Given the description of an element on the screen output the (x, y) to click on. 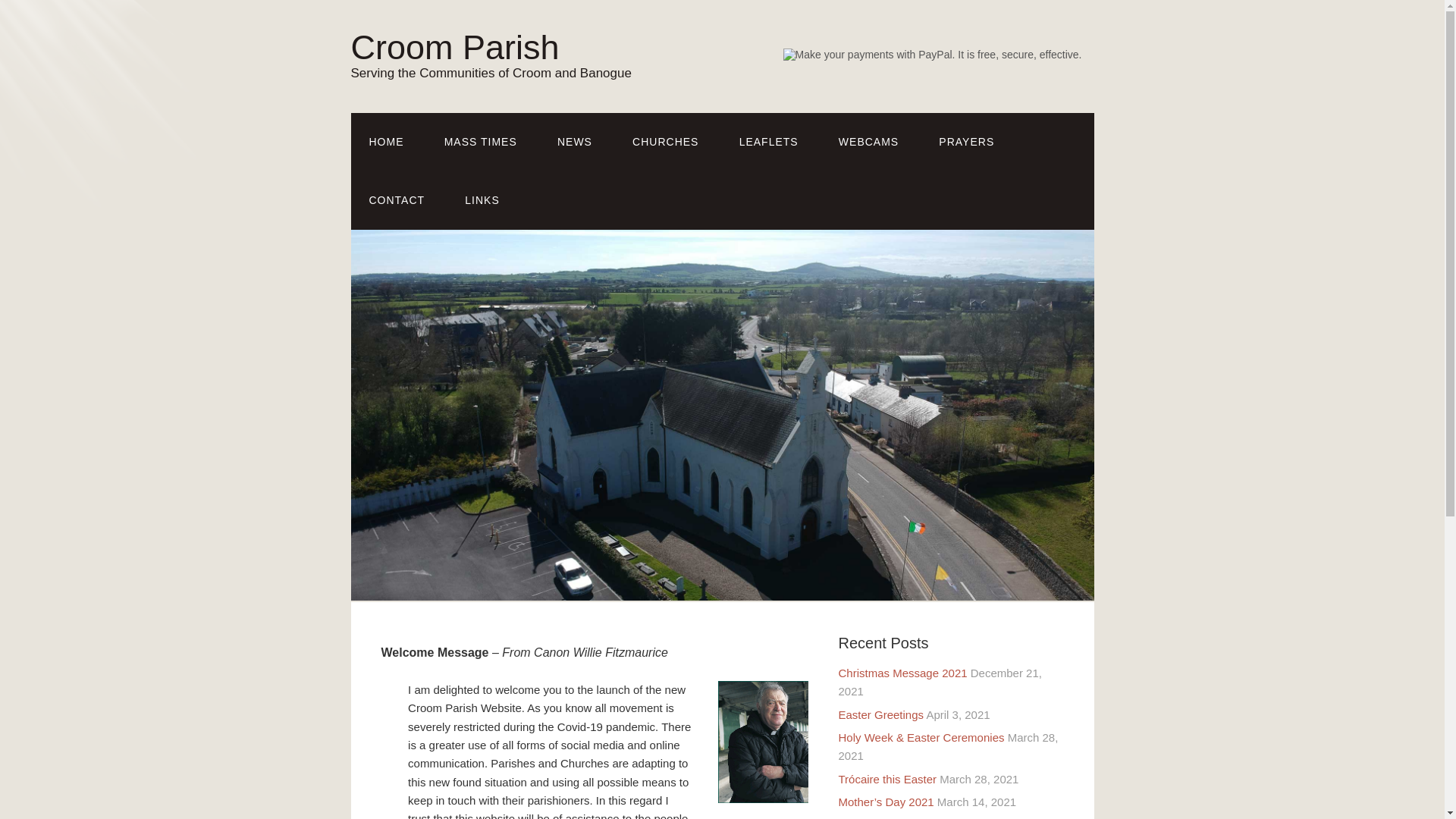
CONTACT (396, 200)
HOME (386, 142)
Christmas Message 2021 (903, 672)
Easter Greetings (881, 714)
LINKS (481, 200)
MASS TIMES (480, 142)
CHURCHES (665, 142)
LEAFLETS (768, 142)
WEBCAMS (869, 142)
Croom Parish (454, 46)
